Given the description of an element on the screen output the (x, y) to click on. 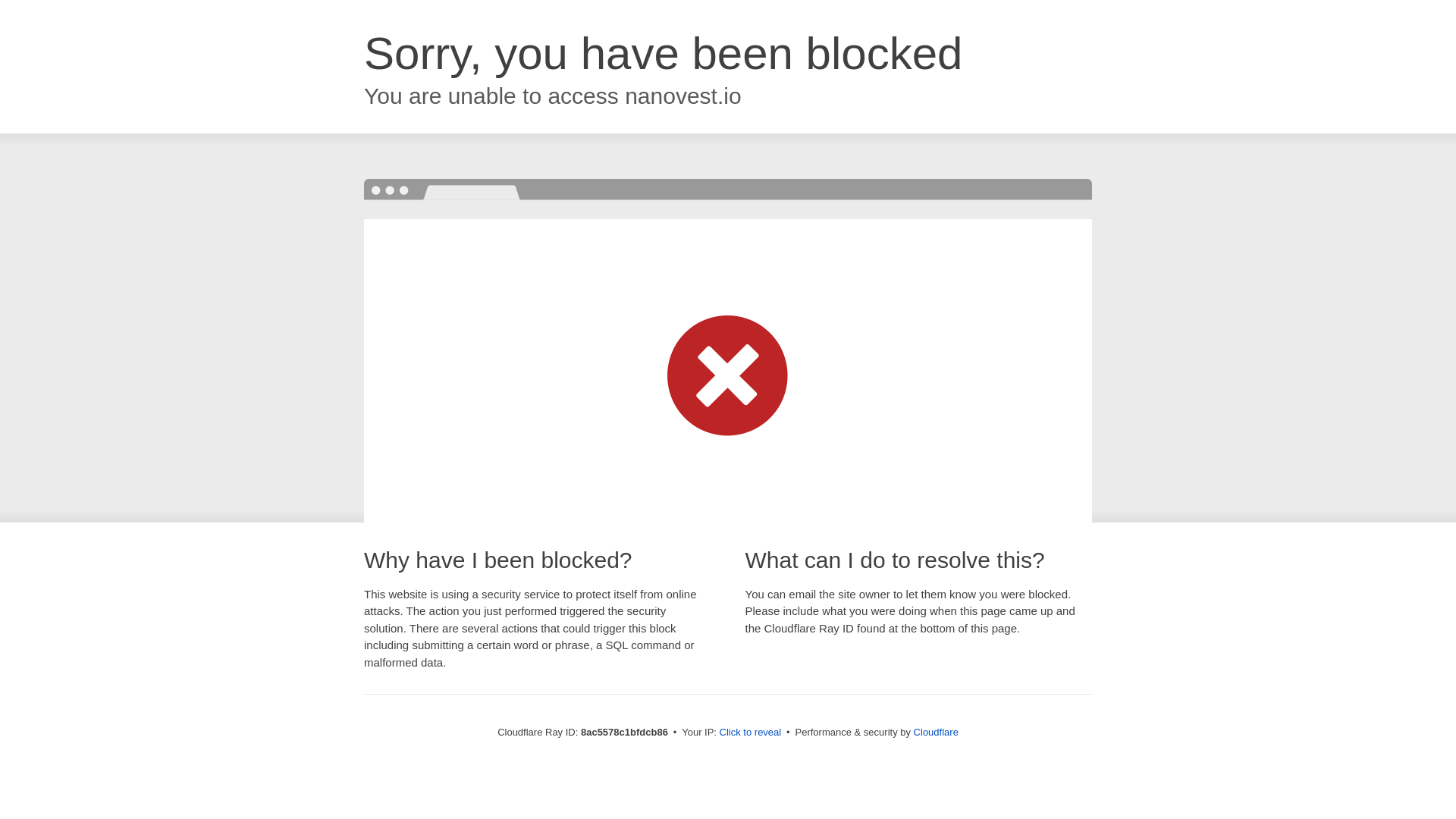
Cloudflare (936, 731)
Click to reveal (750, 732)
